Given the description of an element on the screen output the (x, y) to click on. 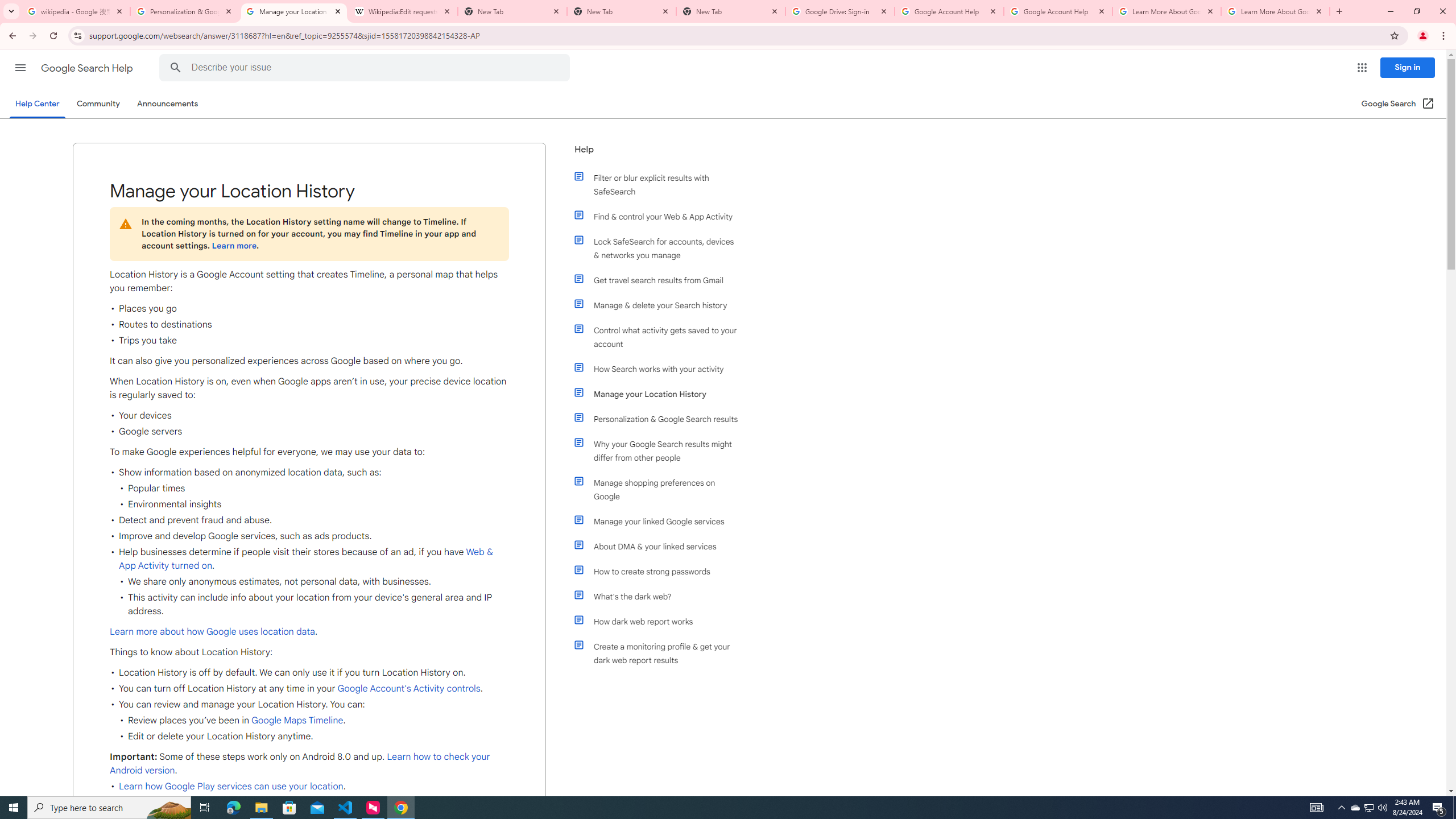
Google Account Help (949, 11)
Learn how to check your Android version (299, 763)
How dark web report works (661, 621)
 Google Account's Activity controls (407, 688)
Personalization & Google Search results (661, 419)
Web & App Activity turned on (306, 558)
Learn more about how Google uses location data (211, 631)
Manage & delete your Search history (661, 305)
Find & control your Web & App Activity (661, 216)
Lock SafeSearch for accounts, devices & networks you manage (661, 248)
Manage your Location History (661, 394)
Get travel search results from Gmail (661, 280)
Google Maps Timeline (296, 720)
